Given the description of an element on the screen output the (x, y) to click on. 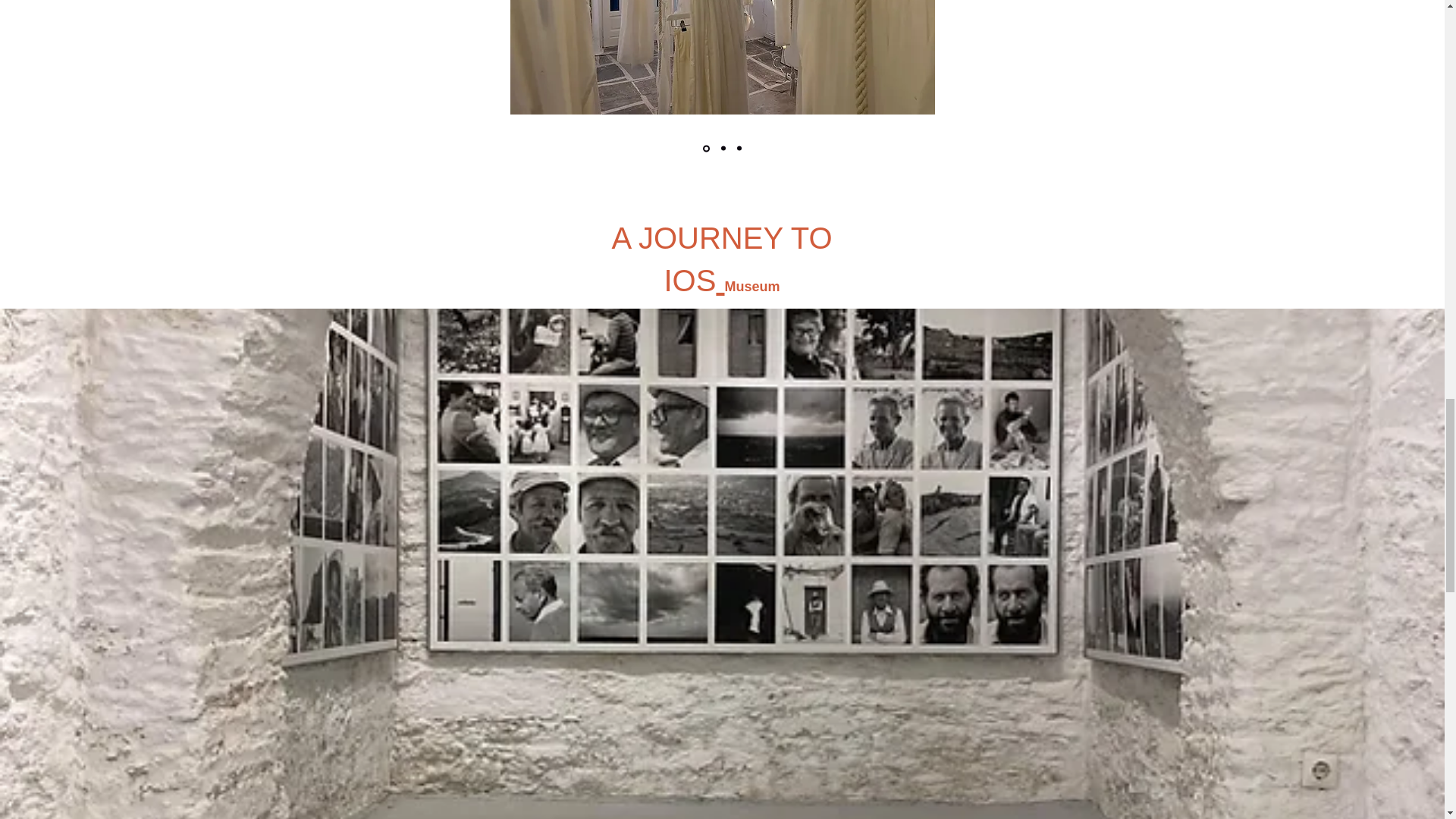
A JOURNEY TO IOS Museum (721, 259)
